Given the description of an element on the screen output the (x, y) to click on. 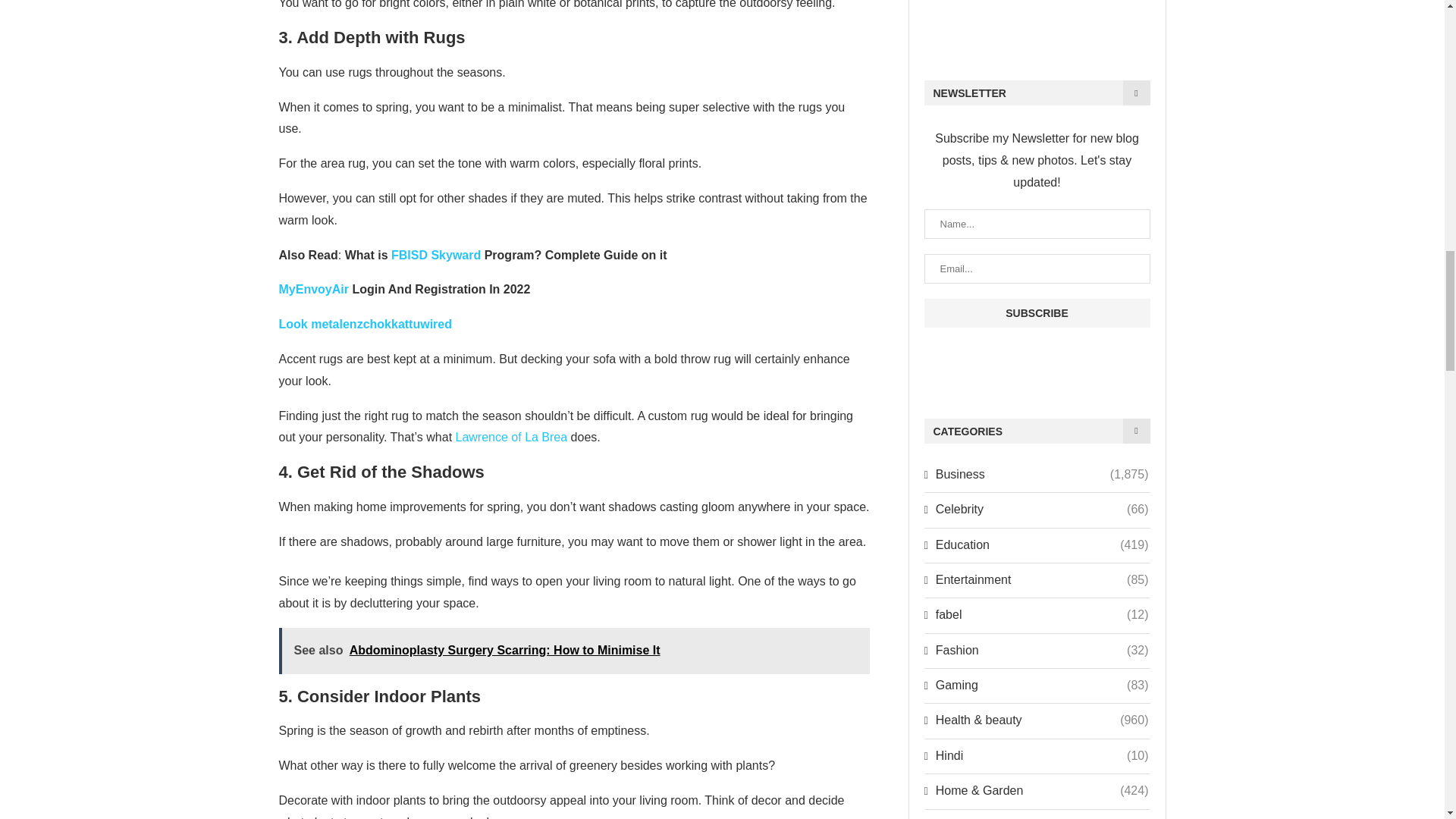
Subscribe (1036, 312)
Look metalenzchokkattuwired (365, 323)
FBISD Skyward (435, 254)
MyEnvoyAir (314, 288)
Lawrence of La Brea (511, 436)
